Given the description of an element on the screen output the (x, y) to click on. 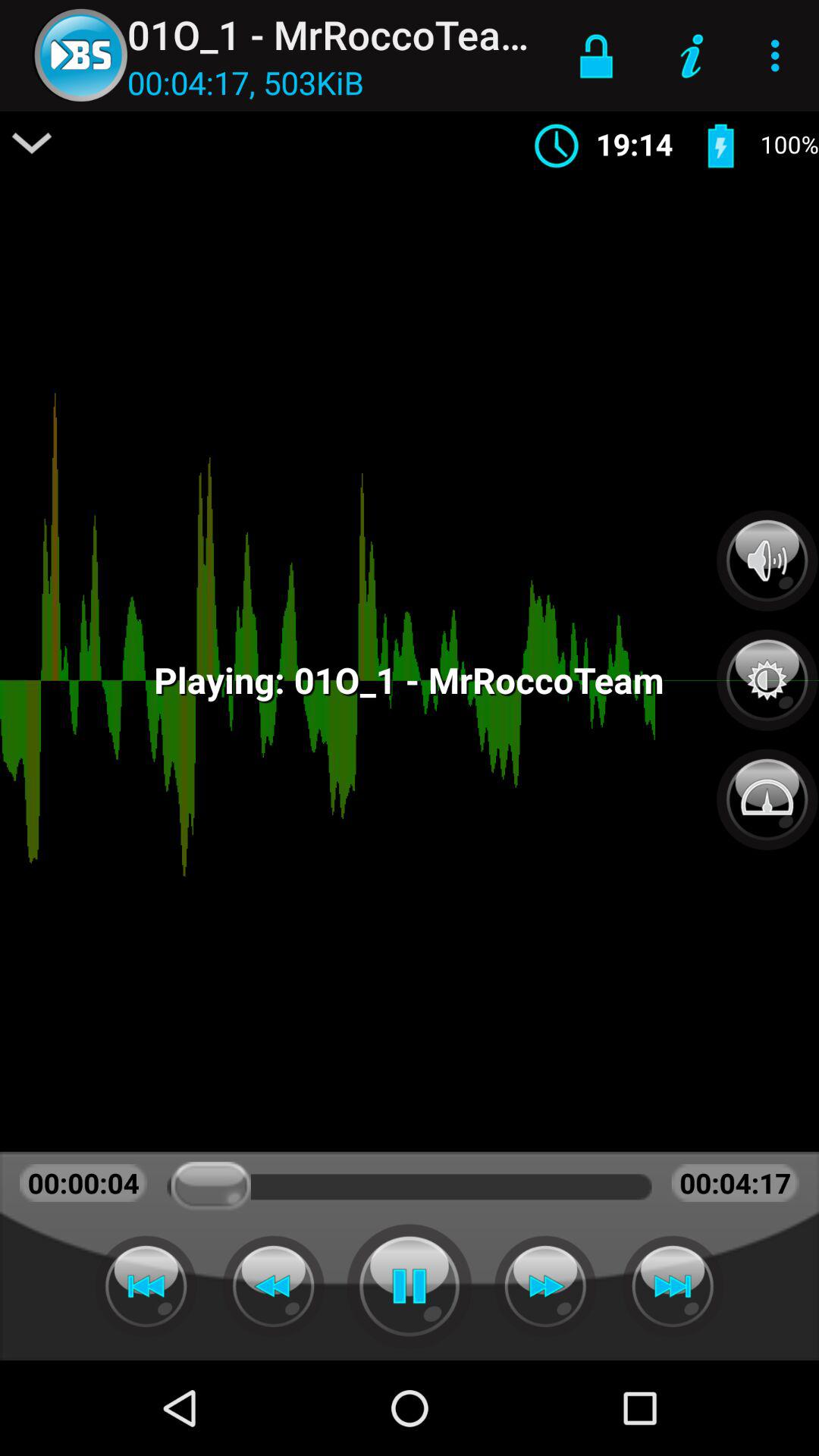
stop music (409, 1286)
